Given the description of an element on the screen output the (x, y) to click on. 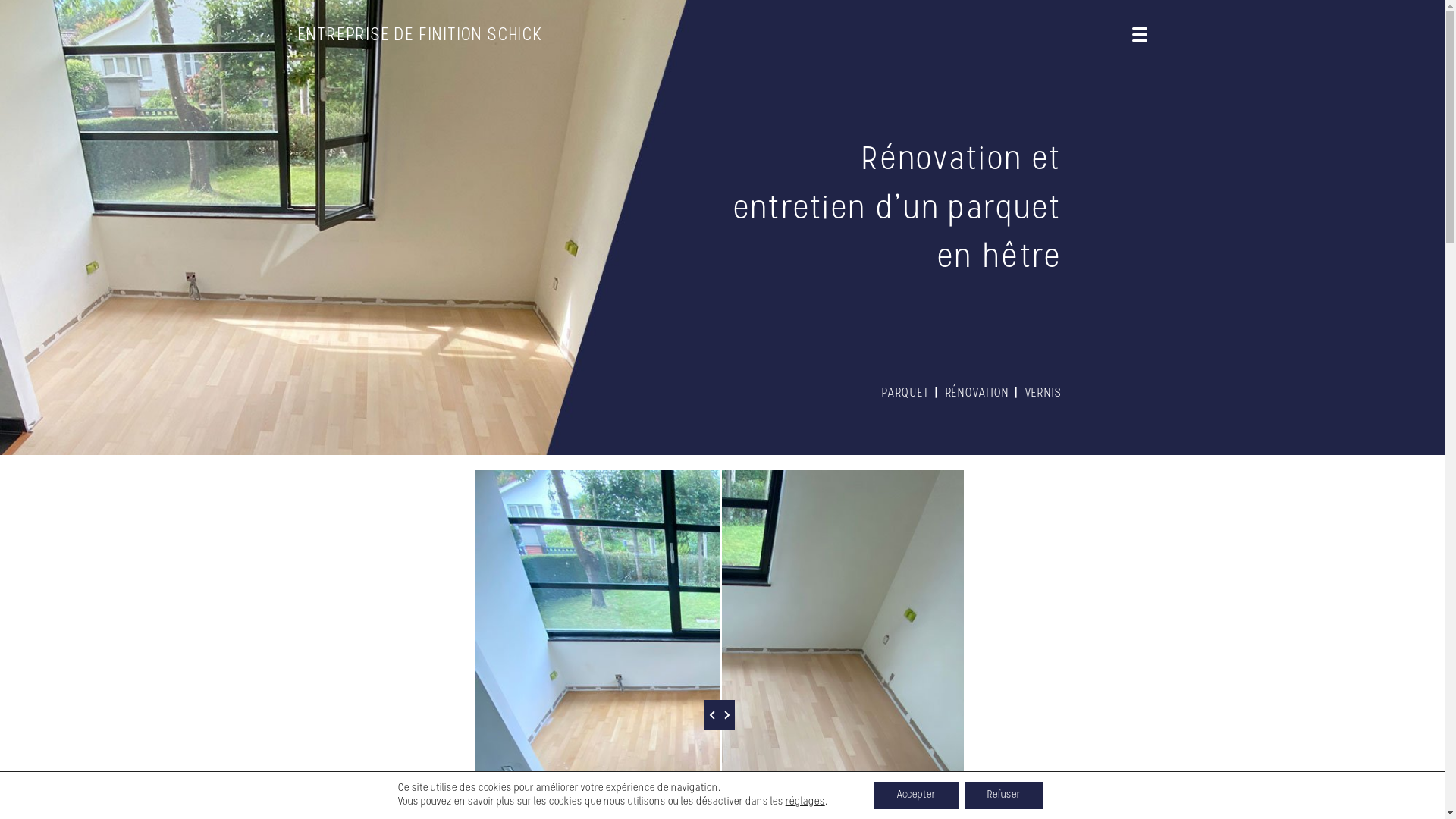
VERNIS Element type: text (1043, 393)
Refuser Element type: text (1003, 795)
ENTREPRISE DE FINITION SCHICK Element type: text (419, 35)
PARQUET Element type: text (905, 393)
Accepter Element type: text (916, 795)
